Given the description of an element on the screen output the (x, y) to click on. 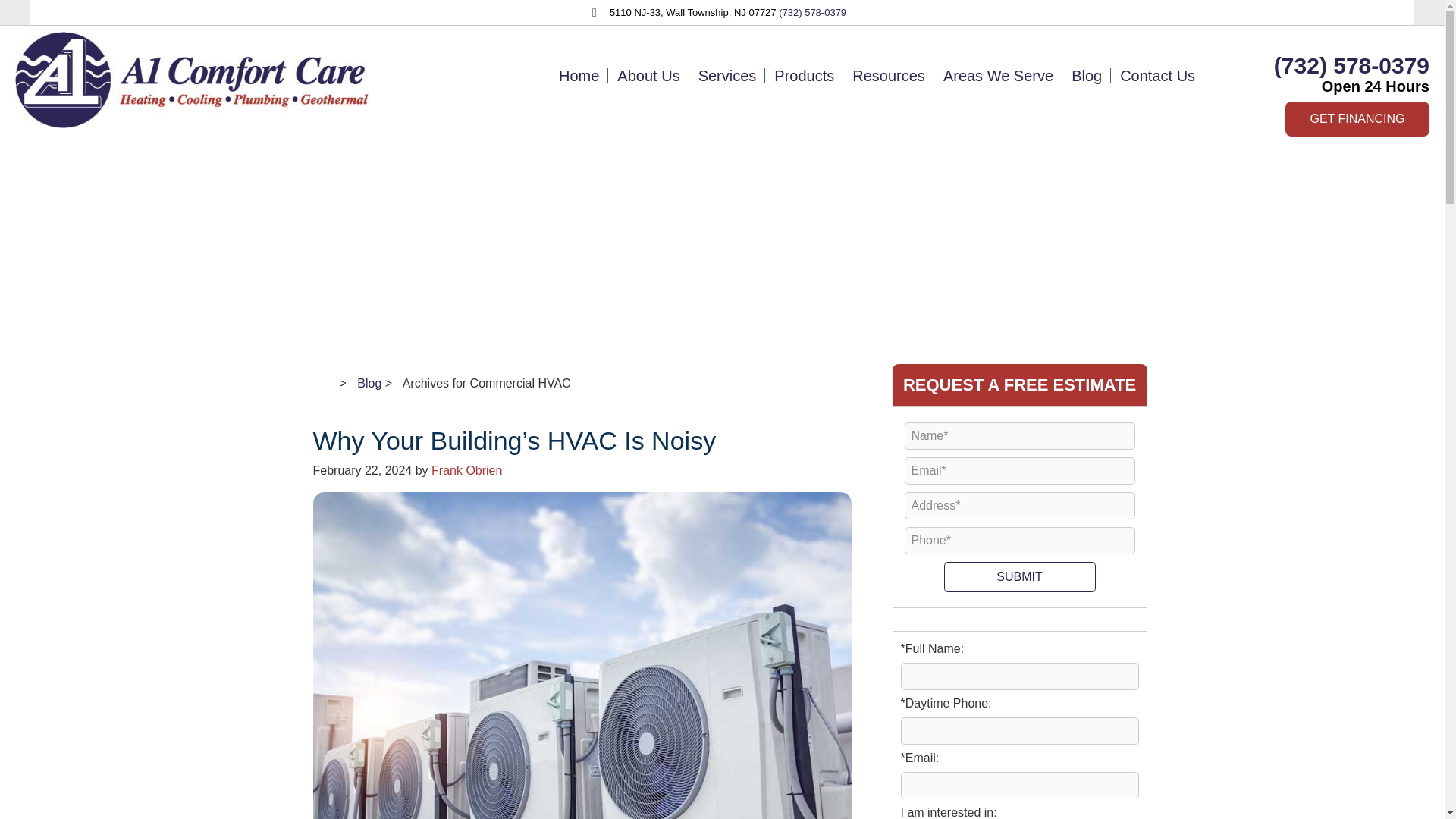
Contact Us (1157, 75)
Home (579, 75)
Products (804, 75)
Services (726, 75)
Resources (888, 75)
About Us (648, 75)
Blog (1086, 75)
GET FINANCING (1357, 118)
Areas We Serve (998, 75)
Submit (1018, 576)
